Given the description of an element on the screen output the (x, y) to click on. 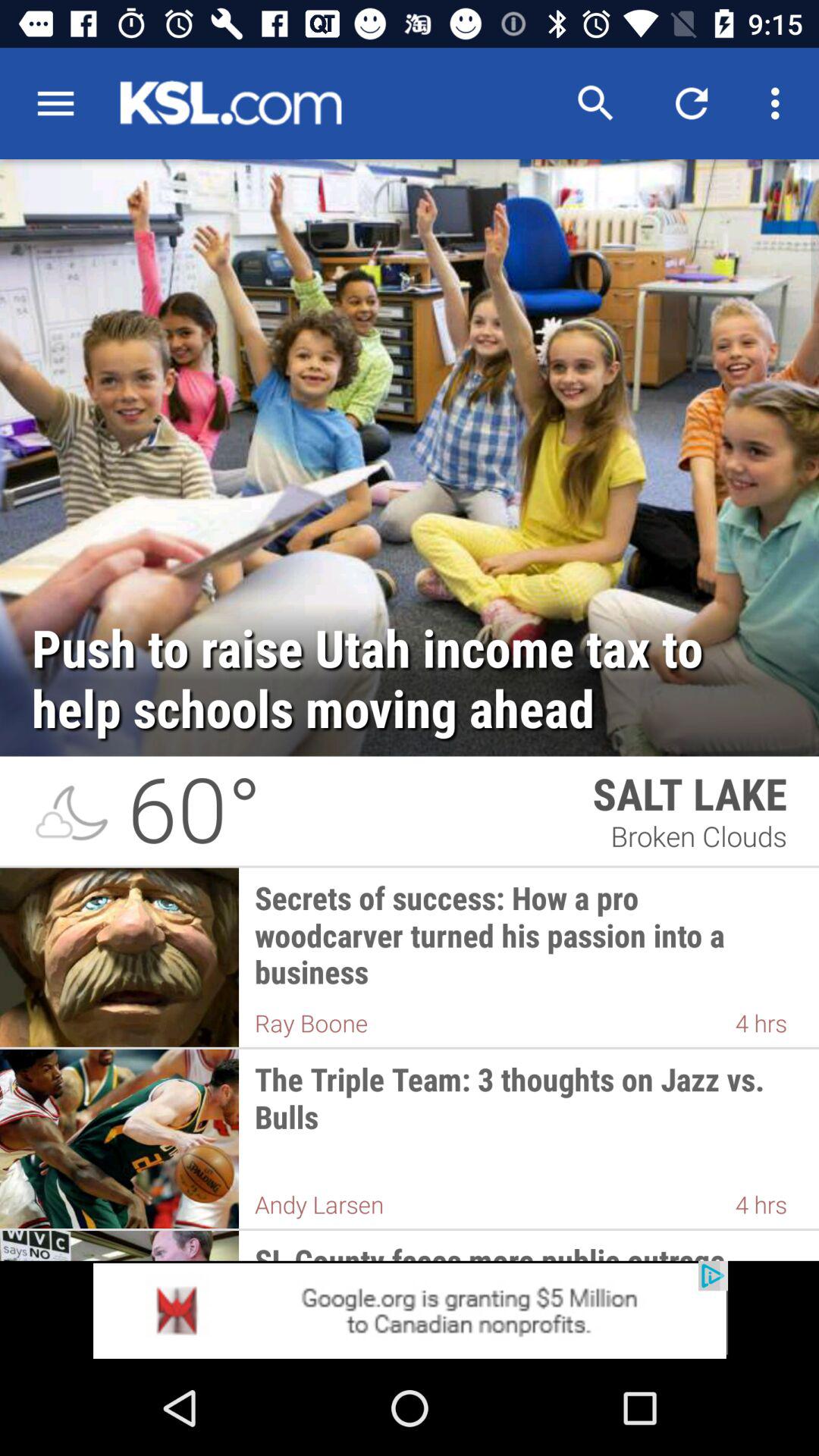
go to advertisement (409, 1310)
